Given the description of an element on the screen output the (x, y) to click on. 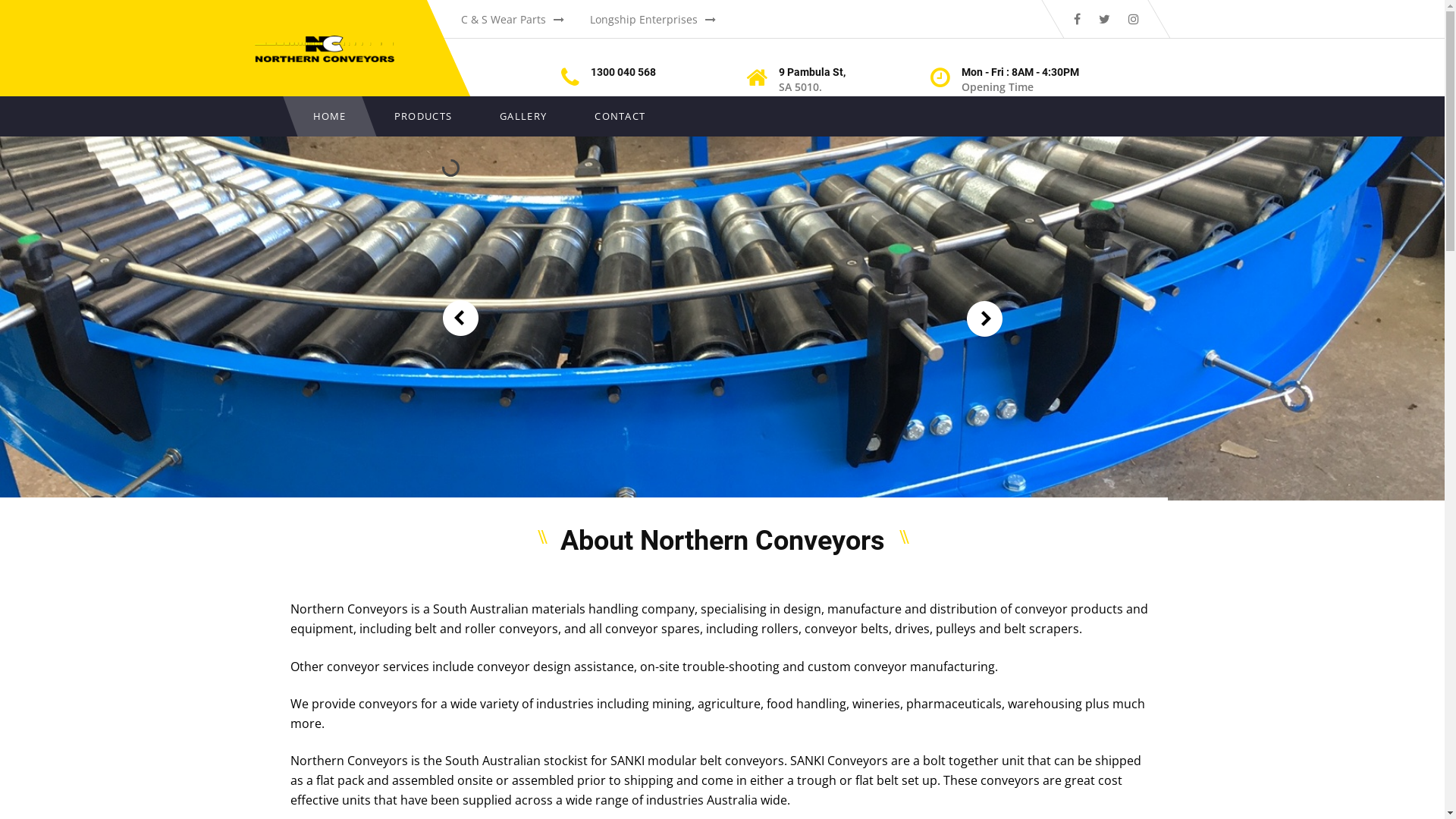
Longship Enterprises Element type: text (652, 19)
CONTACT Element type: text (619, 116)
HOME Element type: text (328, 116)
GALLERY Element type: text (522, 116)
C & S Wear Parts Element type: text (512, 19)
1300 040 568 Element type: text (642, 71)
PRODUCTS Element type: text (422, 116)
